Given the description of an element on the screen output the (x, y) to click on. 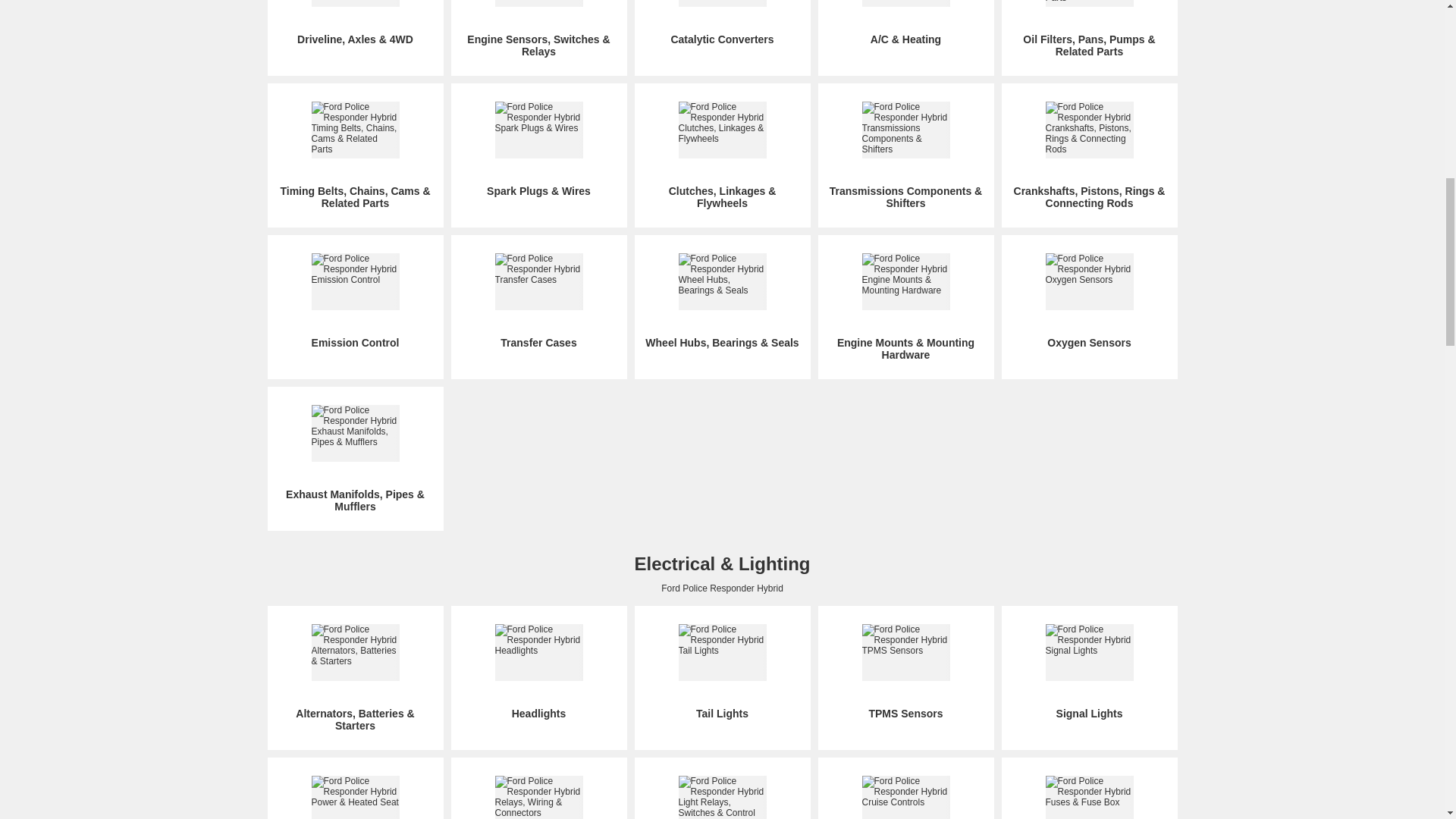
Headlights (538, 671)
Emission Control (354, 300)
Transfer Cases (538, 300)
Emission Control (354, 300)
Transfer Cases (538, 300)
Oxygen Sensors (1088, 300)
Catalytic Converters (721, 22)
Catalytic Converters (721, 22)
